Given the description of an element on the screen output the (x, y) to click on. 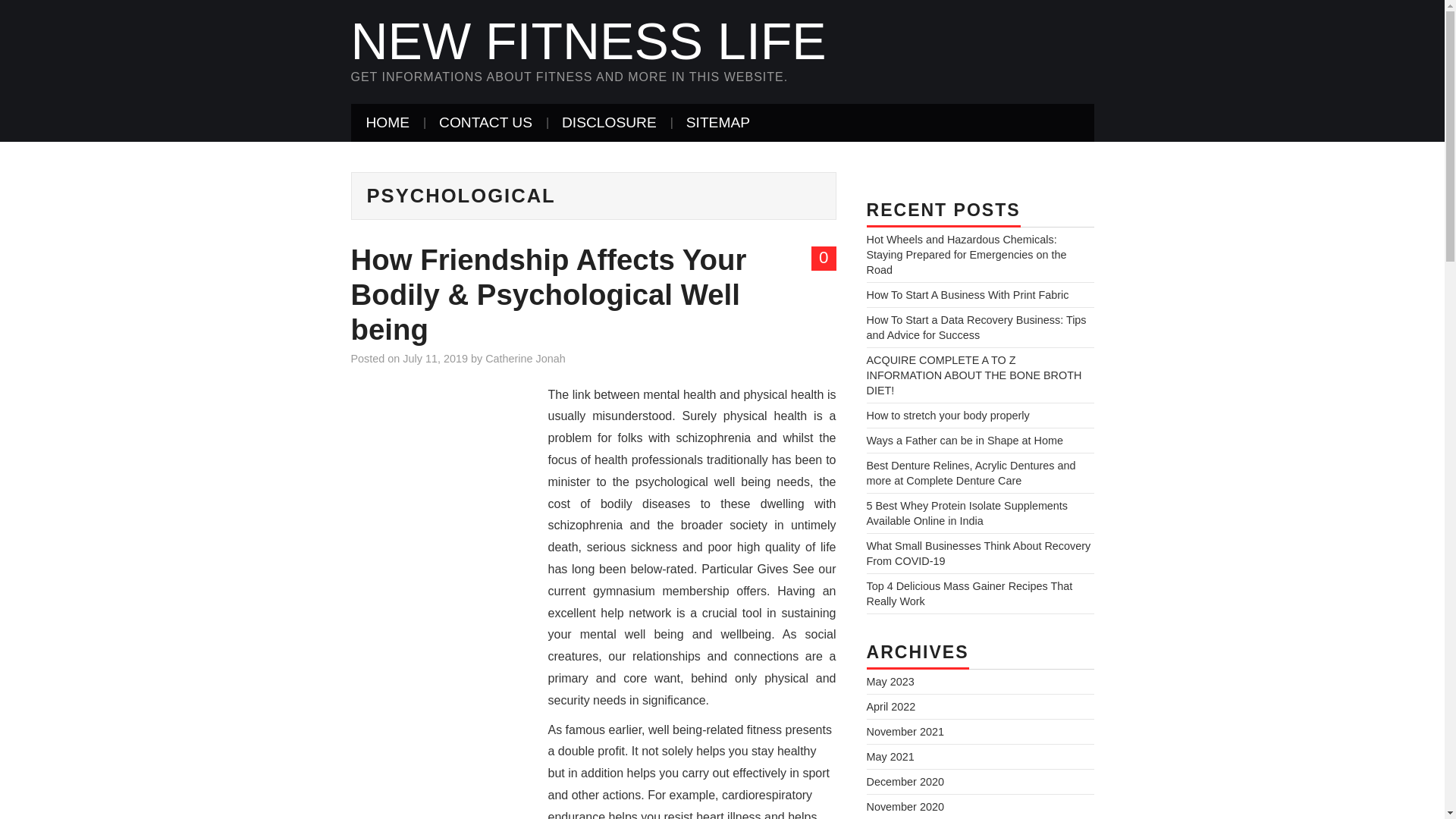
New Fitness Life (587, 40)
July 11, 2019 (435, 358)
HOME (387, 122)
SITEMAP (718, 122)
Catherine Jonah (525, 358)
View all posts by Catherine Jonah (525, 358)
CONTACT US (485, 122)
NEW FITNESS LIFE (587, 40)
DISCLOSURE (609, 122)
12:19 am (435, 358)
